Given the description of an element on the screen output the (x, y) to click on. 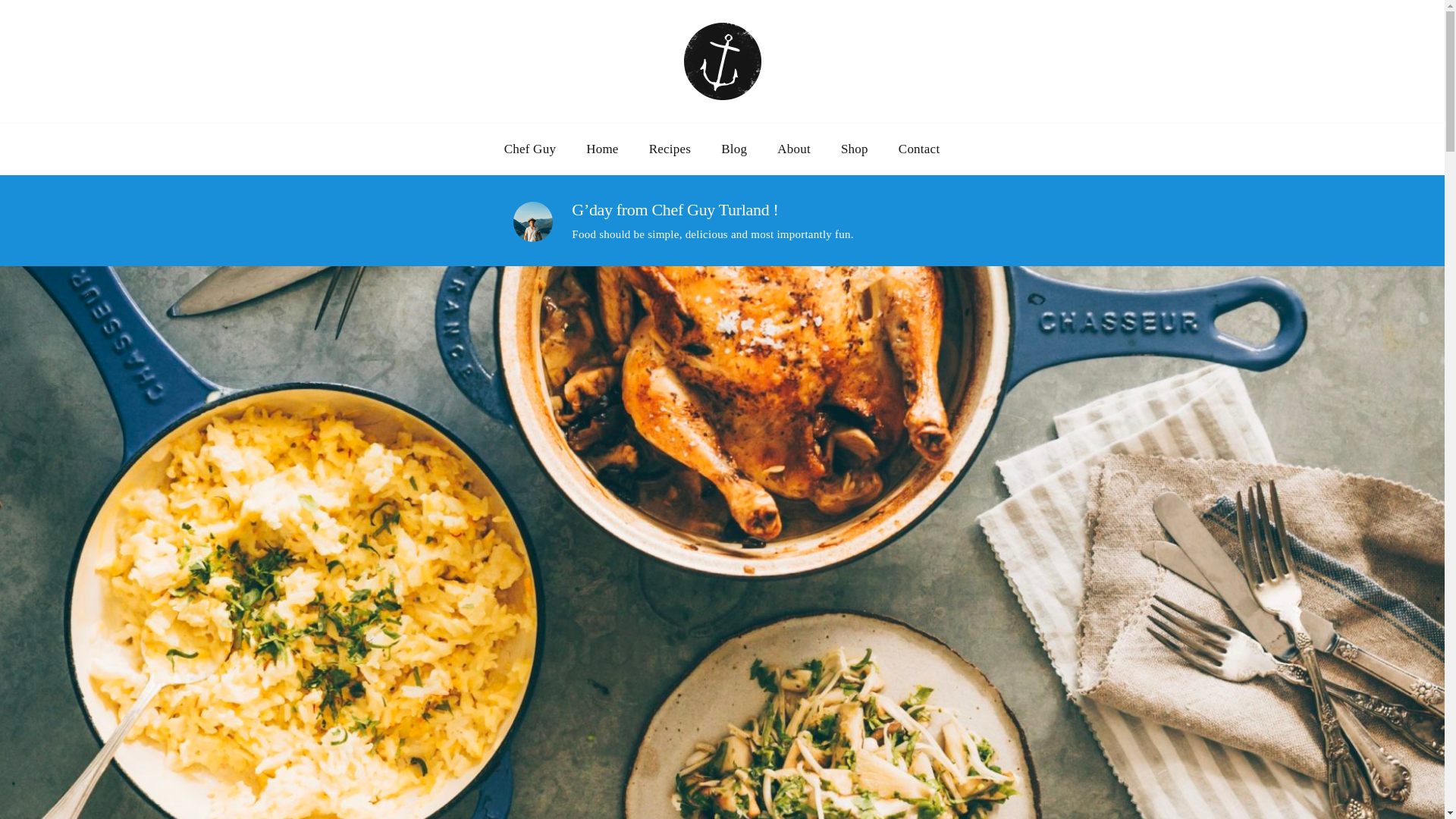
Contact (919, 149)
Chef Guy (530, 149)
Recipes (669, 149)
Shop (854, 149)
About (793, 149)
Pumpkin Wellington Recipe-26 (532, 221)
Blog (733, 149)
Home (601, 149)
